Given the description of an element on the screen output the (x, y) to click on. 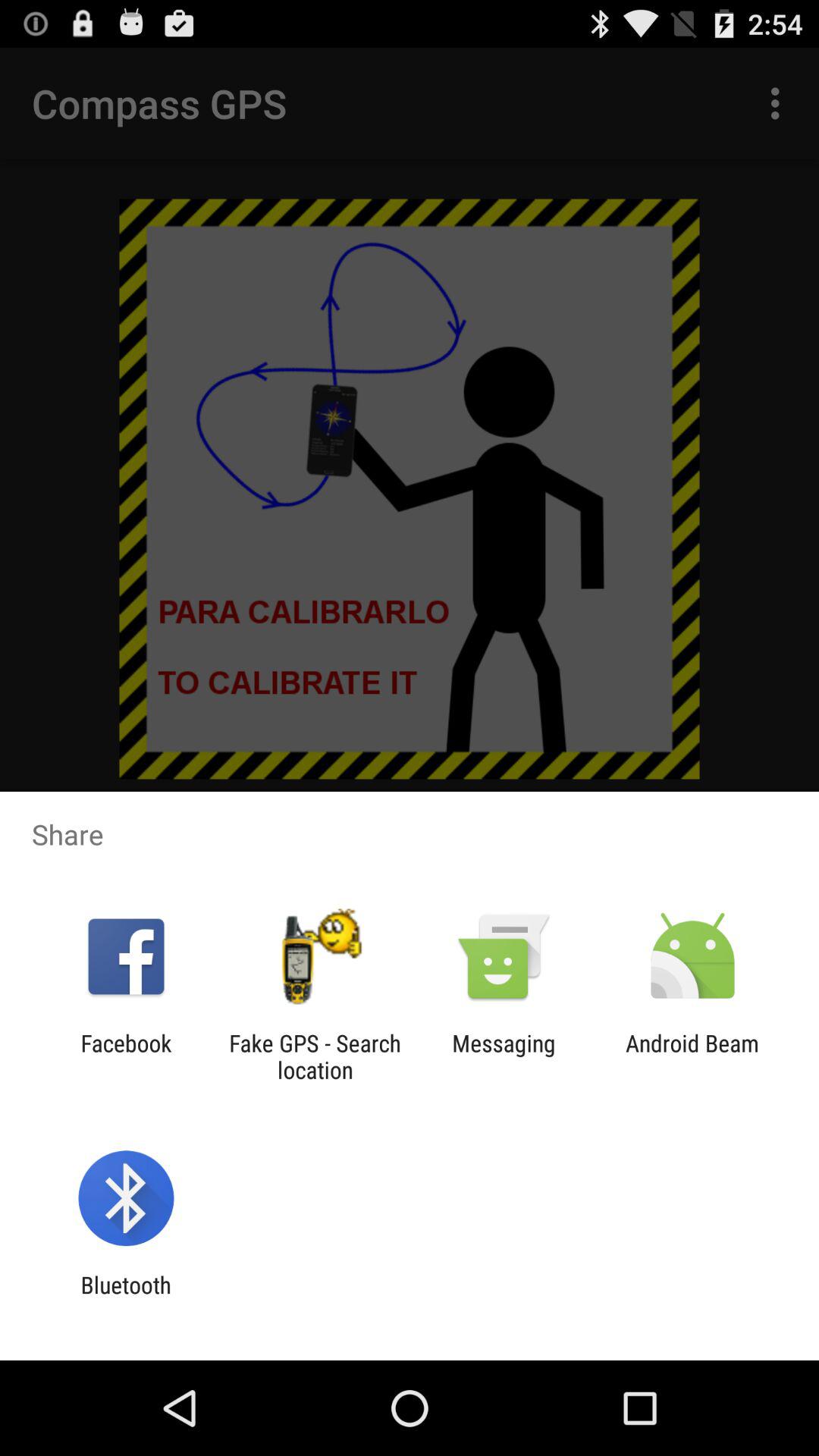
scroll to fake gps search item (314, 1056)
